Given the description of an element on the screen output the (x, y) to click on. 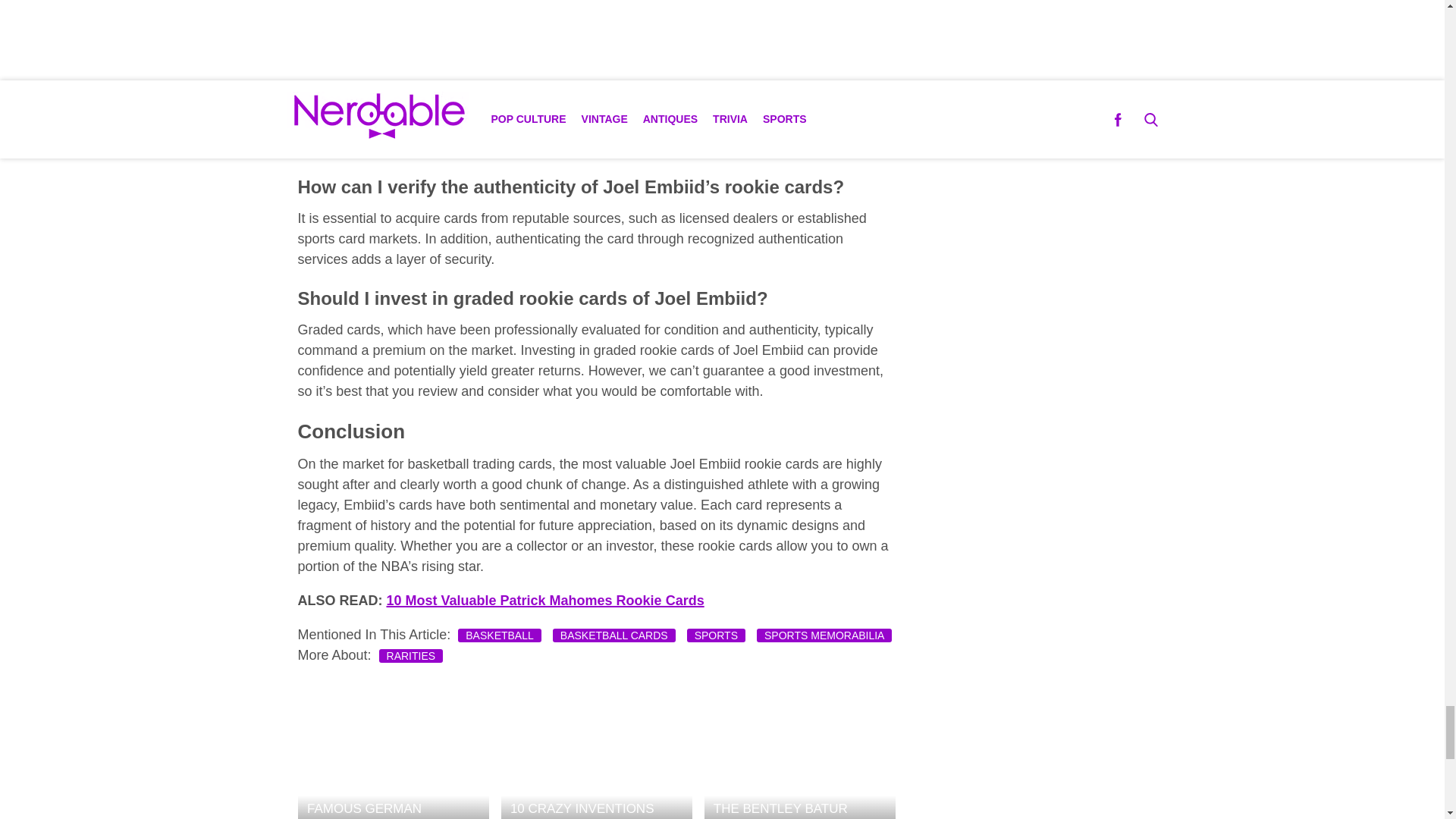
BASKETBALL CARDS (614, 634)
SPORTS (716, 634)
SPORTS MEMORABILIA (824, 634)
BASKETBALL (499, 634)
10 Most Valuable Patrick Mahomes Rookie Cards (545, 600)
RARITIES (411, 655)
